Given the description of an element on the screen output the (x, y) to click on. 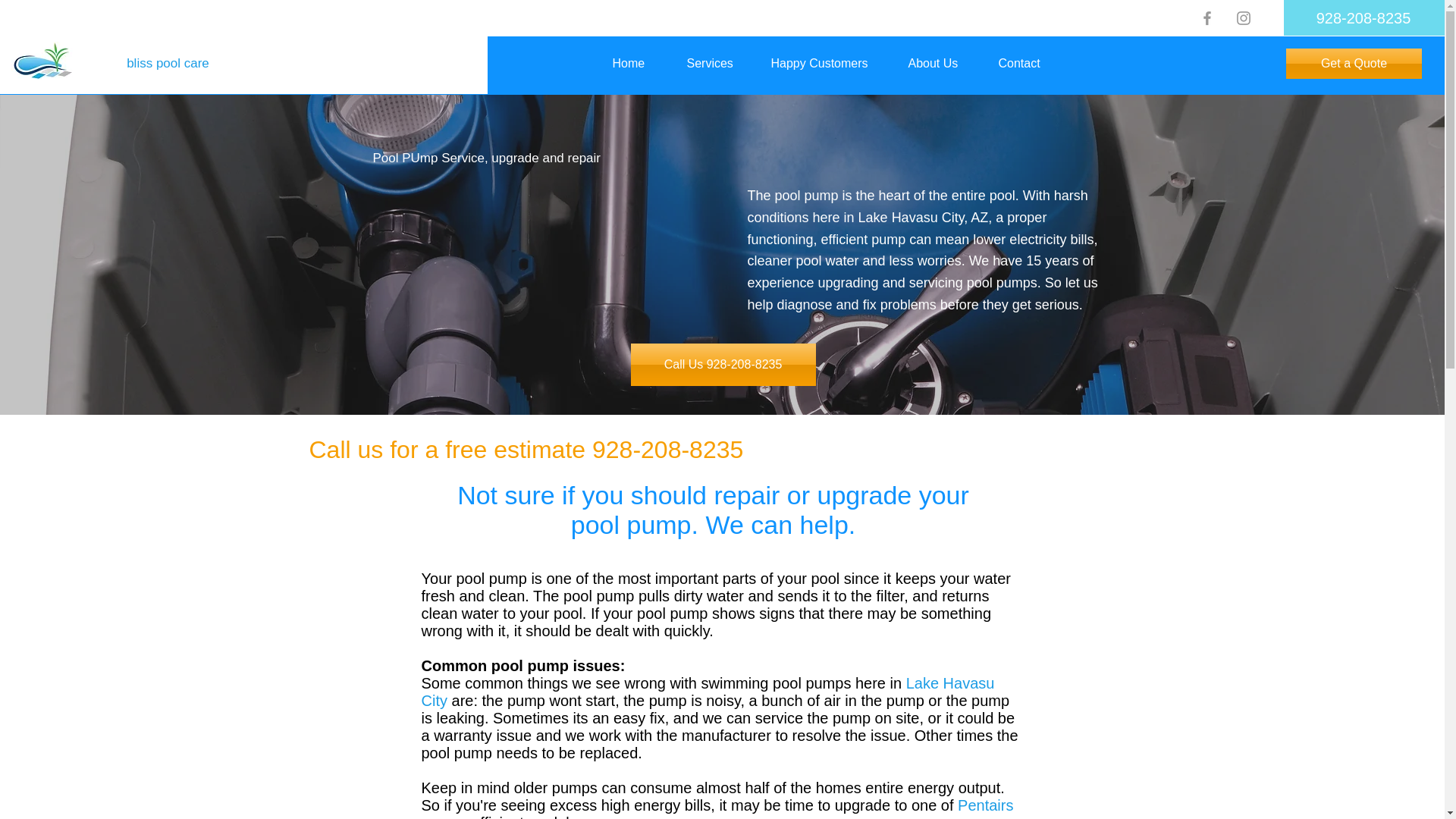
Pentairs (985, 805)
Get a Quote (1353, 63)
Call Us 928-208-8235 (722, 364)
About Us (941, 63)
bliss pool care (167, 63)
Home (637, 63)
Happy Customers (828, 63)
Contact (1027, 63)
Services (716, 63)
Lake Havasu City (708, 691)
